Given the description of an element on the screen output the (x, y) to click on. 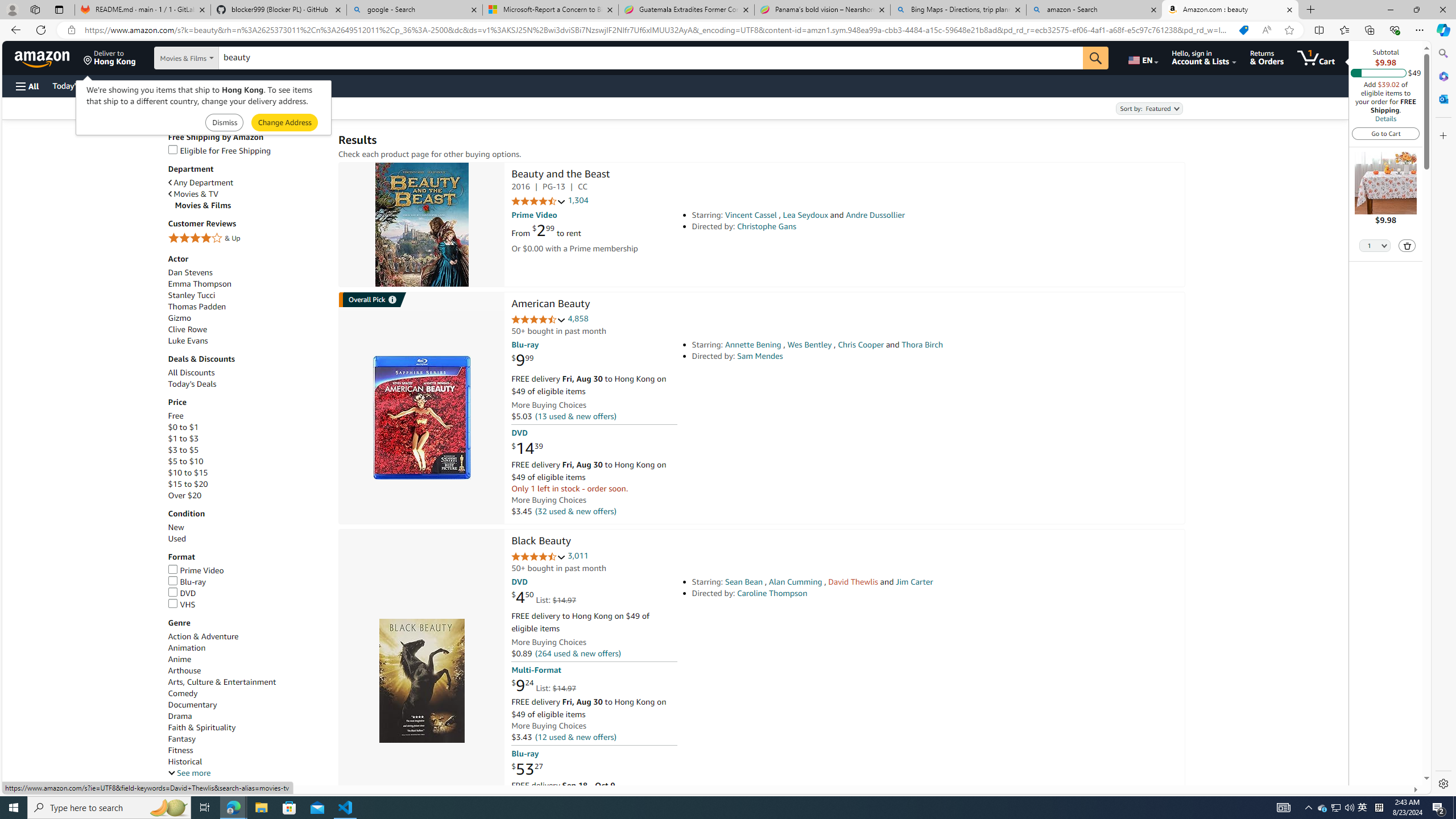
Alan Cumming (795, 581)
Used (176, 538)
Comedy (247, 693)
Directed by: Caroline Thompson (850, 593)
From $2.99 to rent (545, 230)
3,011 (577, 556)
Free (175, 415)
Eligible for Free Shipping (218, 150)
Prime Video (195, 570)
amazon - Search (1094, 9)
